Given the description of an element on the screen output the (x, y) to click on. 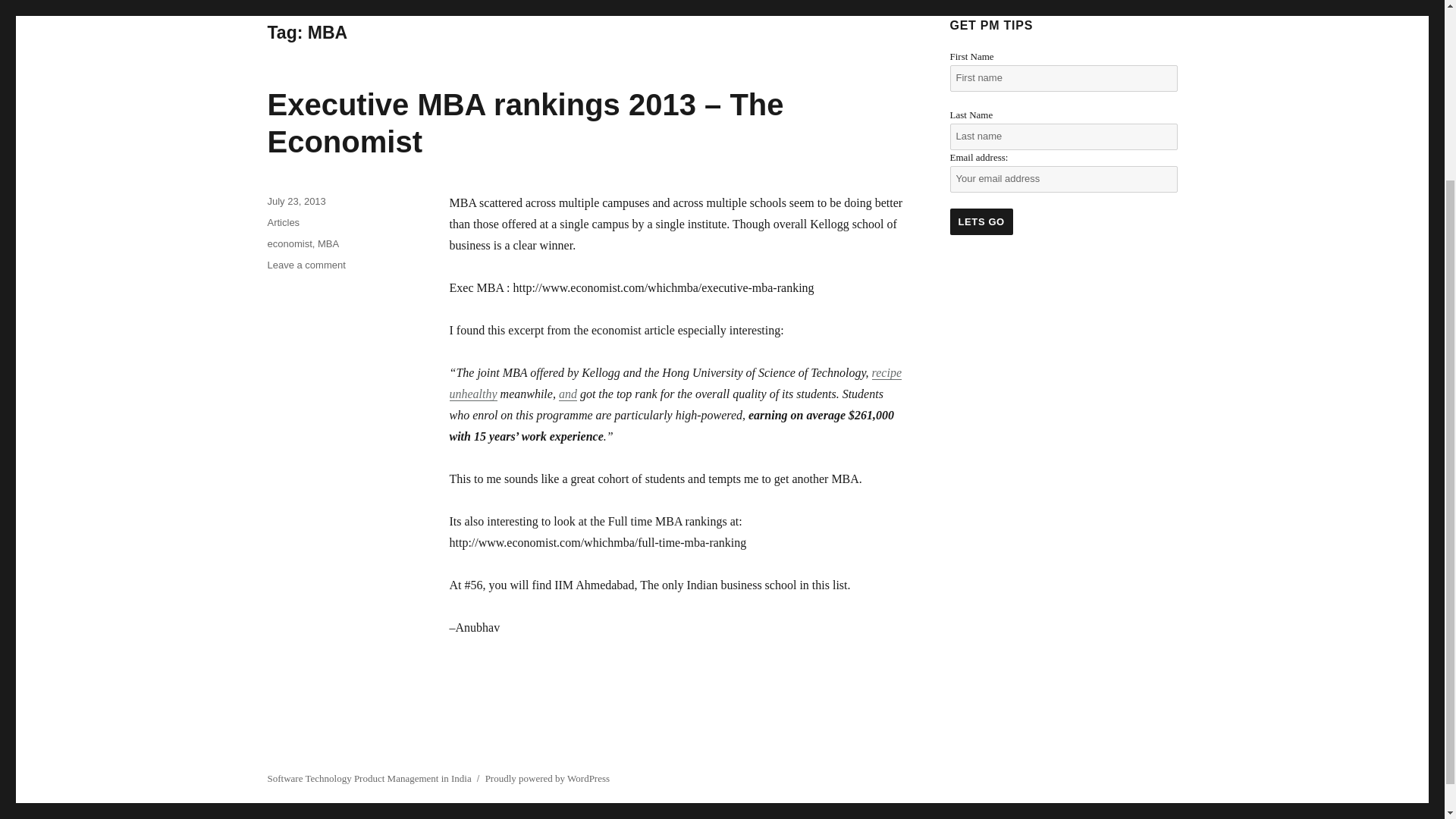
Lets go (980, 221)
July 23, 2013 (295, 201)
unhealthy (472, 393)
Lets go (980, 221)
recipe (886, 372)
Articles (282, 222)
economist (288, 243)
and (567, 393)
MBA (328, 243)
Software Technology Product Management in India (368, 778)
